Given the description of an element on the screen output the (x, y) to click on. 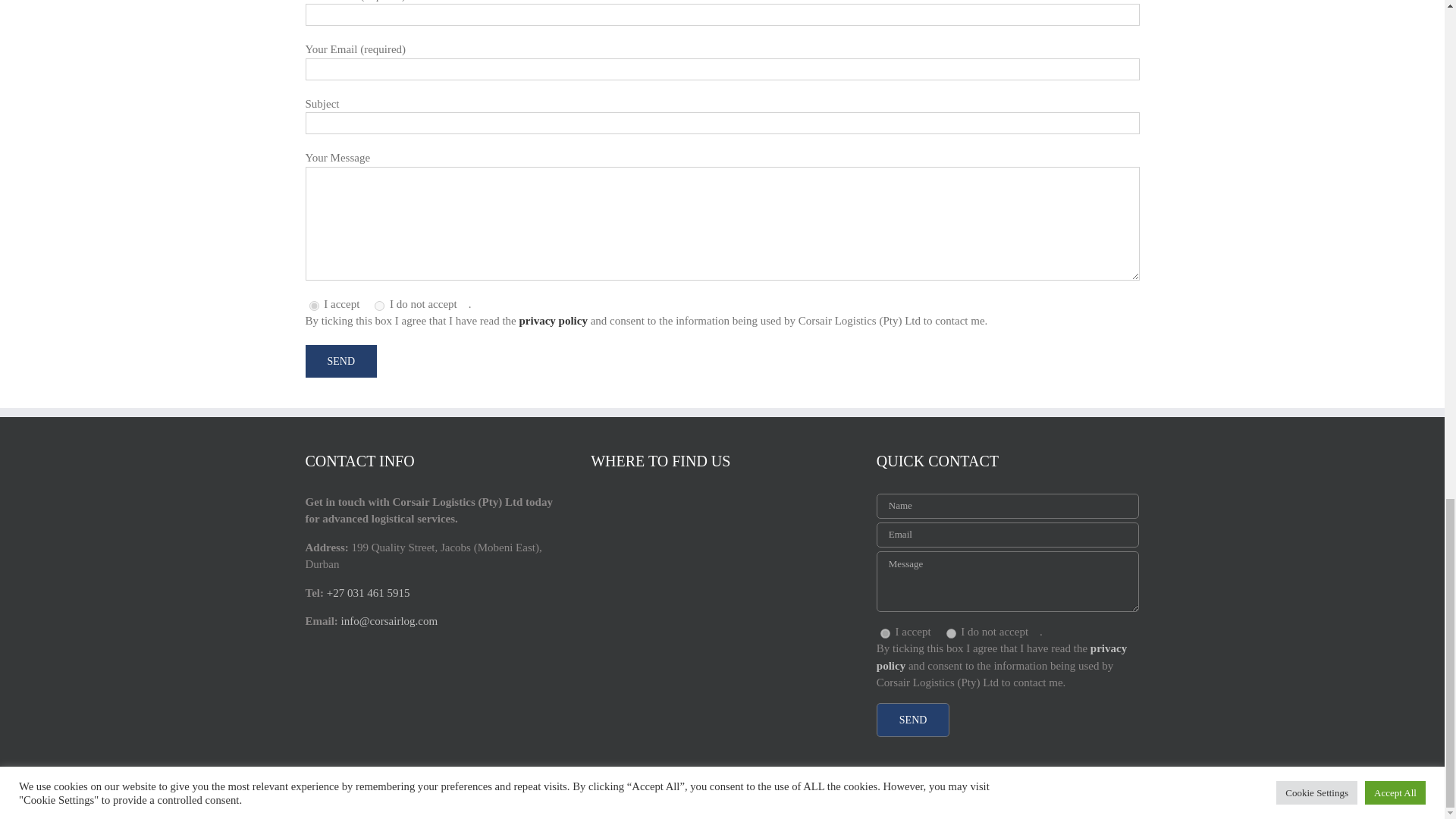
I accept (313, 306)
I do not accept (379, 306)
I do not accept (951, 633)
Send (340, 360)
Send (340, 360)
Send (913, 719)
Send (913, 719)
privacy policy (552, 320)
I accept (884, 633)
privacy policy (1001, 656)
